Given the description of an element on the screen output the (x, y) to click on. 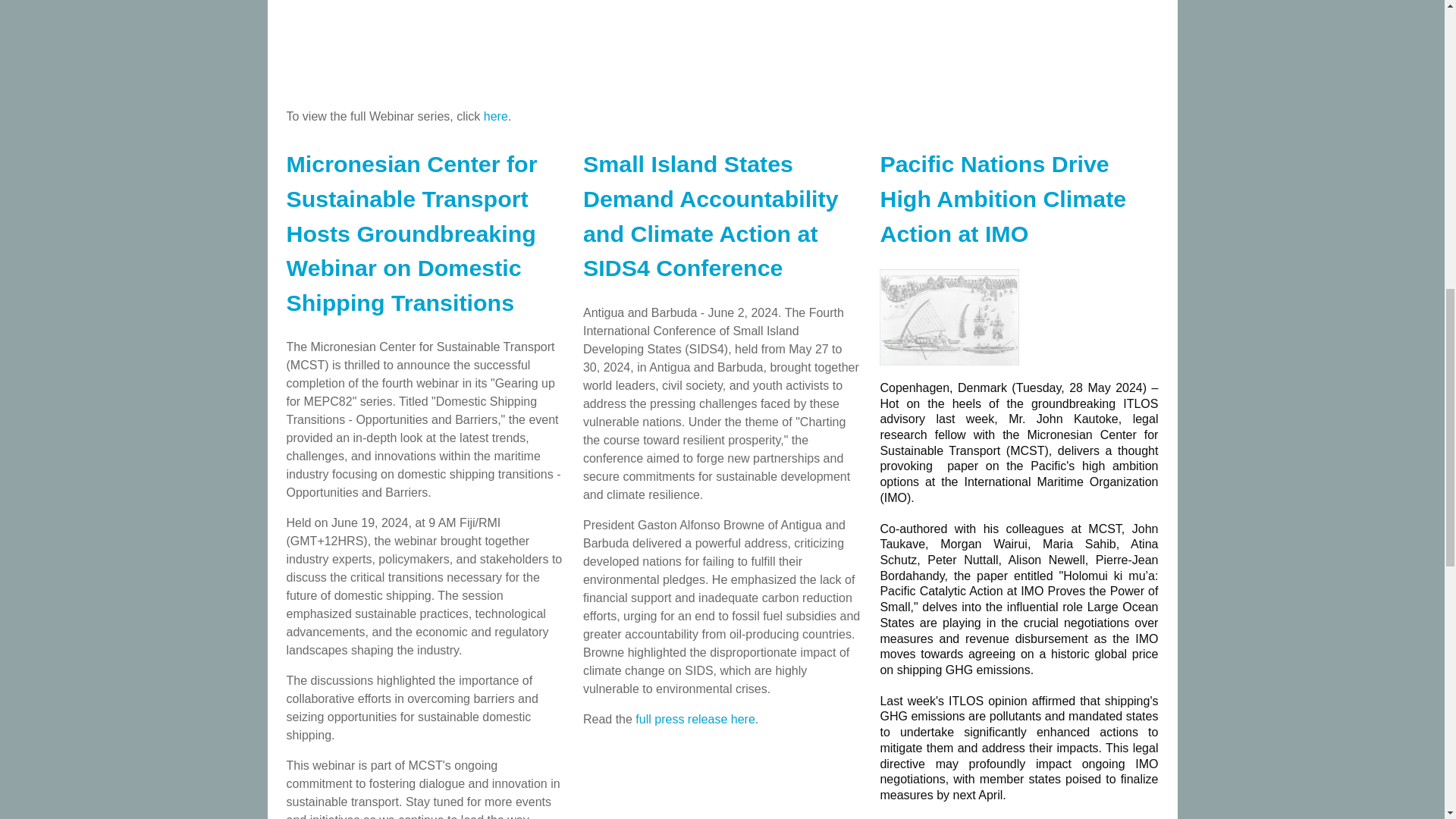
YouTube video player (589, 45)
